Given the description of an element on the screen output the (x, y) to click on. 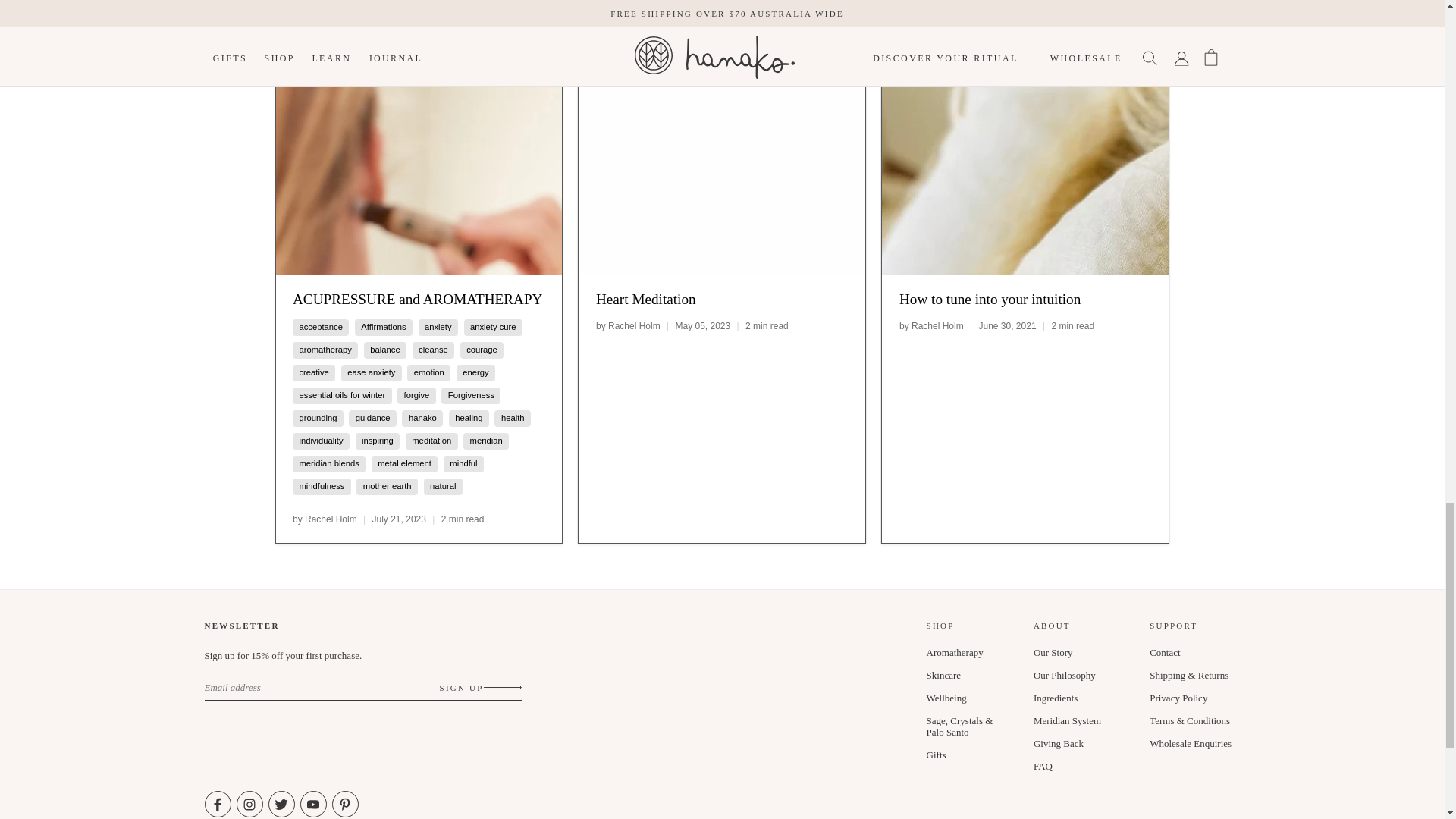
ACUPRESSURE and AROMATHERAPY (419, 156)
Journal tagged courage (481, 349)
Journal tagged cleanse (433, 349)
ACUPRESSURE and AROMATHERAPY (416, 299)
Journal tagged Affirmations (383, 327)
Journal tagged balance (383, 349)
Journal tagged anxiety cure (493, 327)
Journal tagged creative (313, 372)
Journal tagged acceptance (320, 327)
Journal tagged anxiety (438, 327)
